Given the description of an element on the screen output the (x, y) to click on. 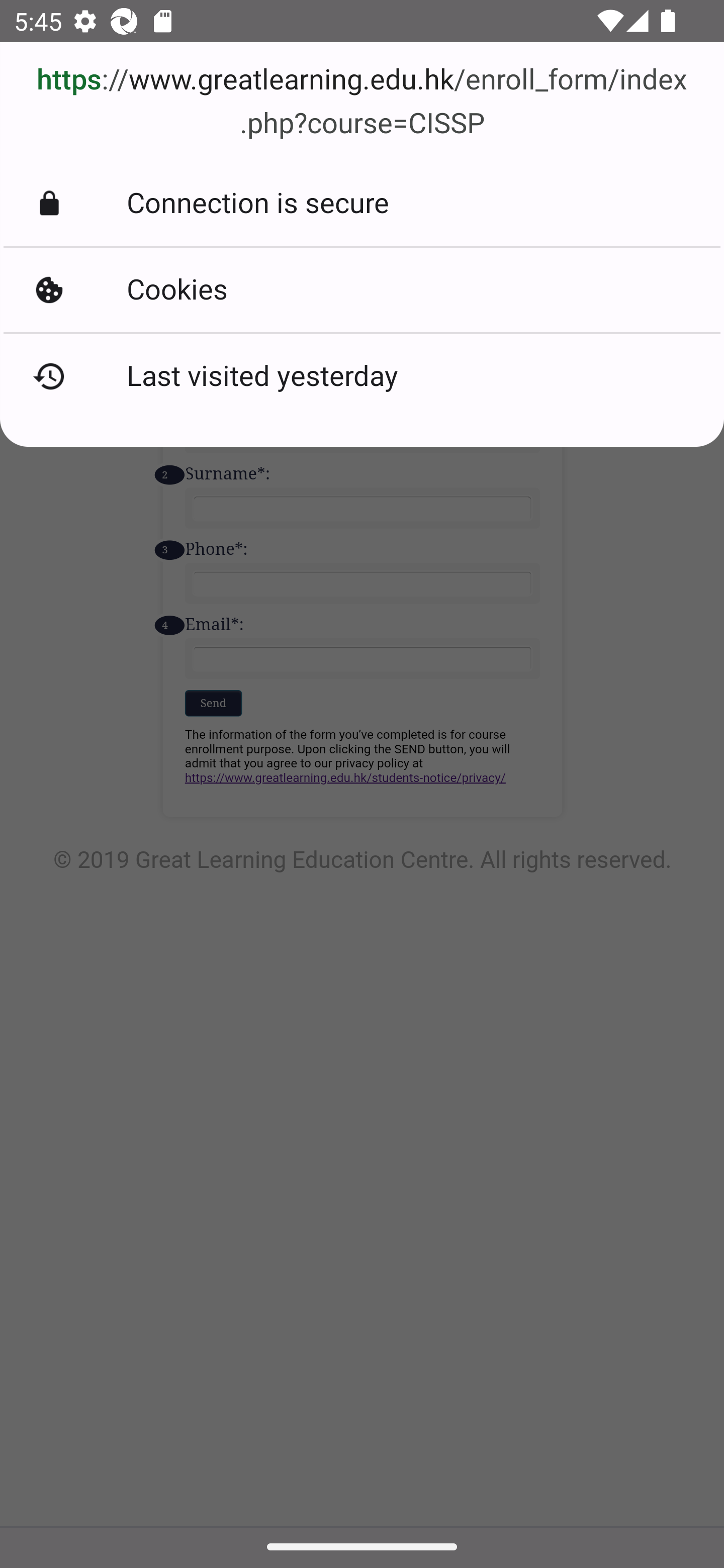
Connection is secure (362, 203)
Cookies (362, 289)
Last visited yesterday (362, 375)
